Given the description of an element on the screen output the (x, y) to click on. 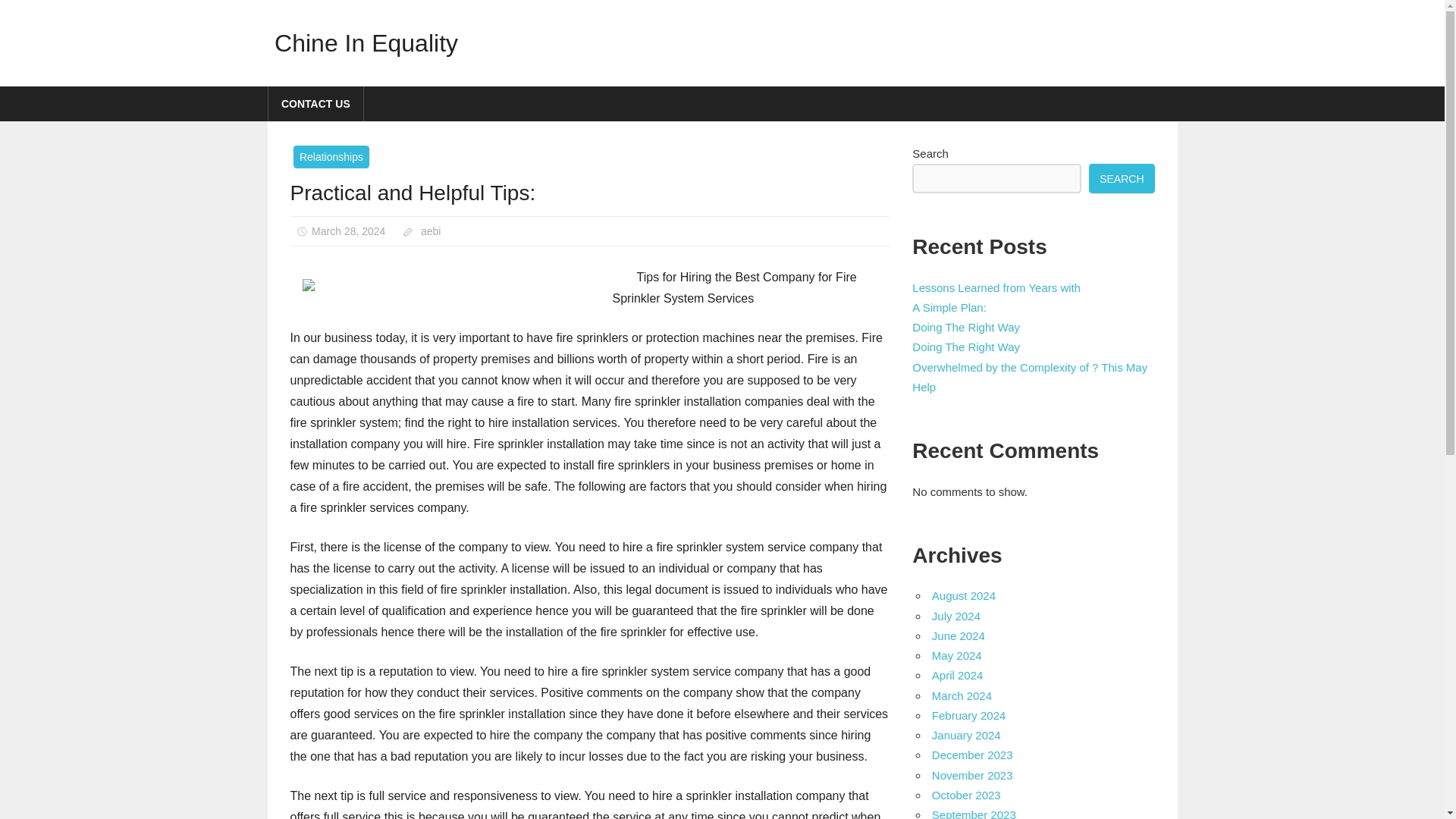
July 2024 (955, 615)
Lessons Learned from Years with (996, 287)
CONTACT US (316, 103)
March 28, 2024 (348, 231)
SEARCH (1121, 178)
June 2024 (958, 635)
May 2024 (956, 655)
February 2024 (968, 715)
March 2024 (961, 695)
Overwhelmed by the Complexity of ? This May Help (1029, 377)
